Given the description of an element on the screen output the (x, y) to click on. 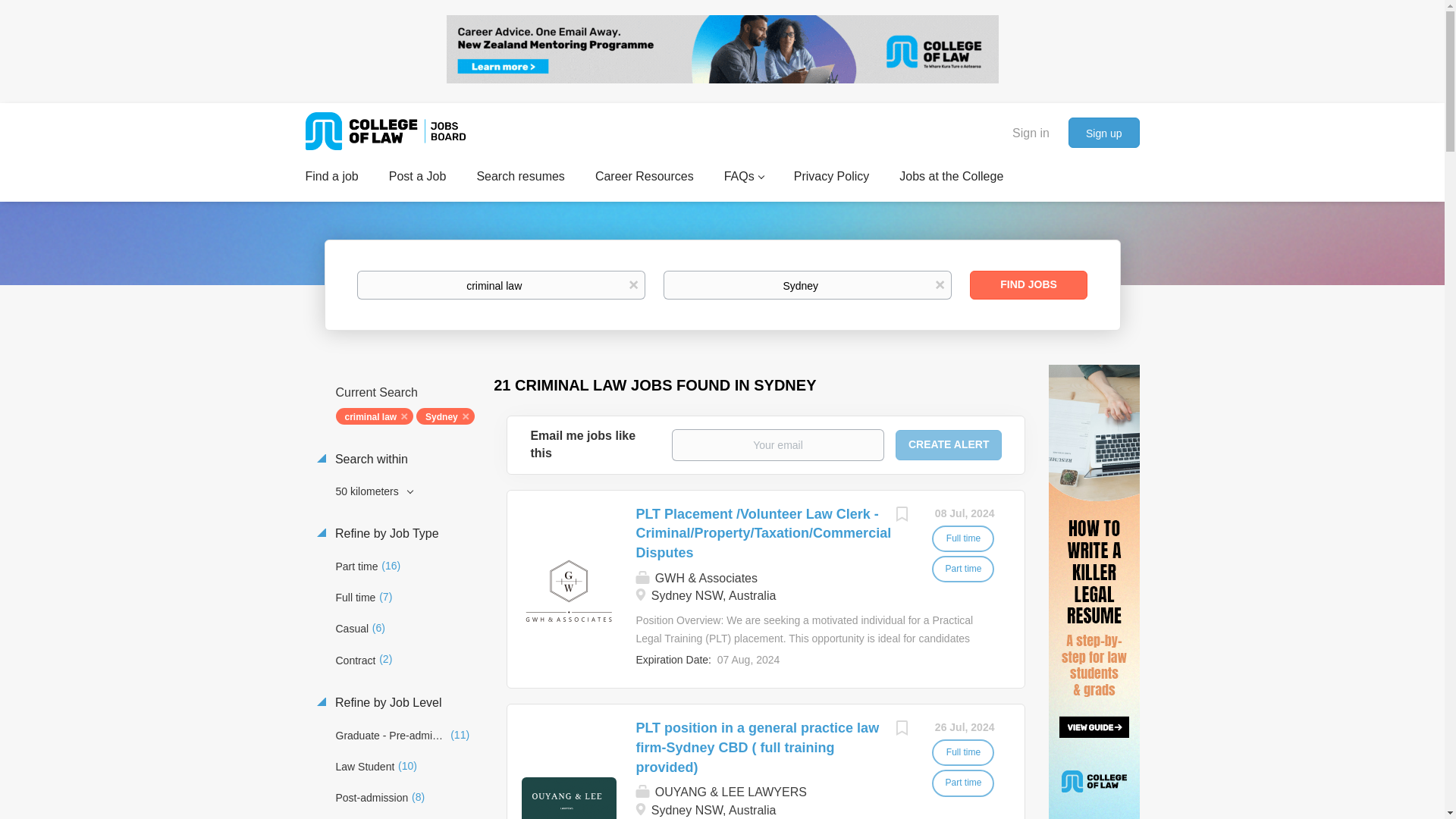
50 kilometers (408, 490)
FAQs (742, 178)
Sydney (445, 416)
FIND JOBS (1028, 285)
criminal law (373, 416)
Sign in (1031, 131)
Find a job (331, 178)
Jobs at the College (951, 178)
Sydney (807, 285)
Search resumes (520, 178)
criminal law (500, 285)
Privacy Policy (831, 178)
Career Resources (644, 178)
Create alert (949, 444)
Search within (400, 459)
